Given the description of an element on the screen output the (x, y) to click on. 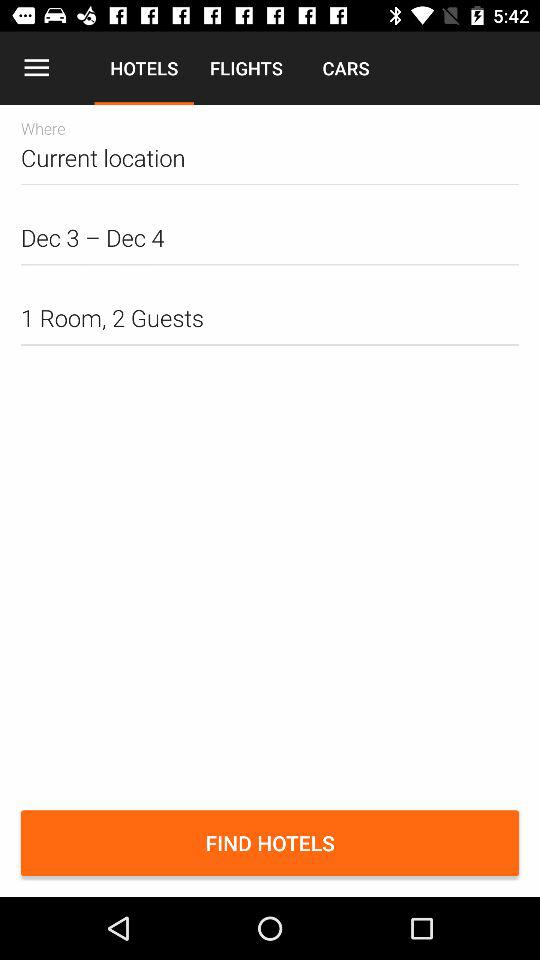
swipe to the find hotels item (270, 843)
